Given the description of an element on the screen output the (x, y) to click on. 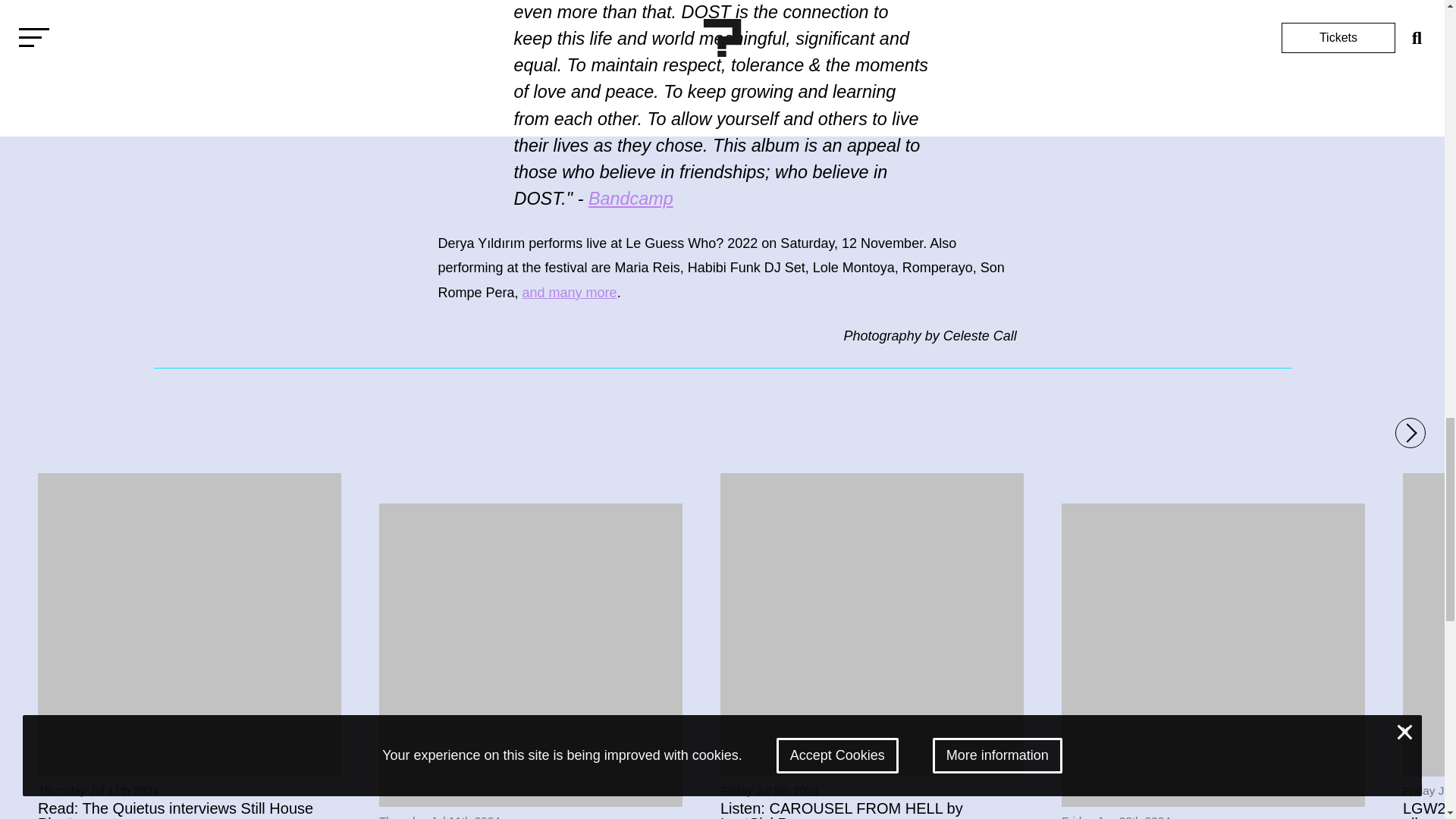
Bandcamp (630, 198)
and many more (569, 292)
